Given the description of an element on the screen output the (x, y) to click on. 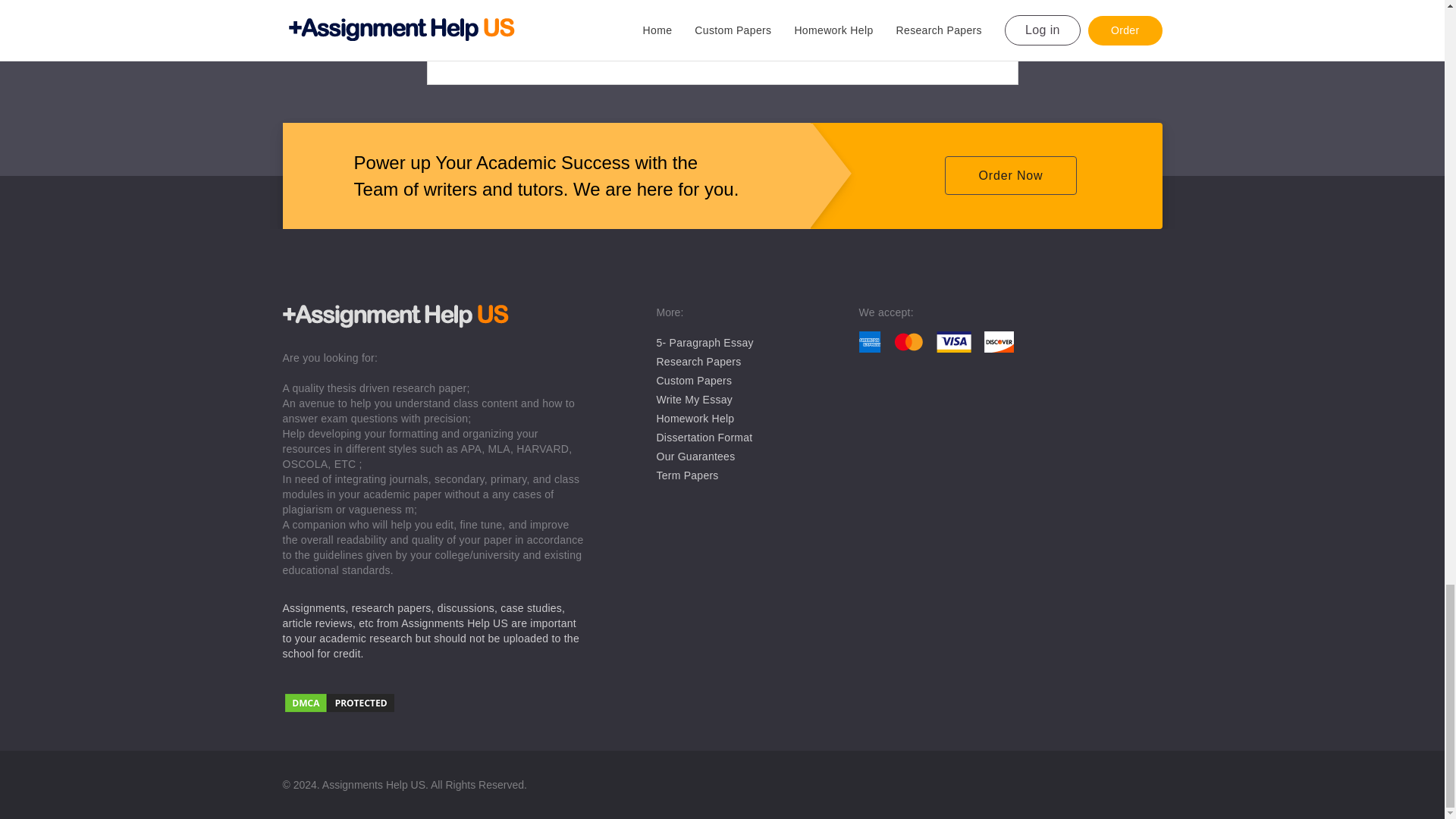
Write My Essay (694, 399)
Term Papers (687, 475)
Order Now (1009, 175)
Our Guarantees (695, 456)
Dissertation Format (704, 437)
Research Papers (698, 361)
Homework Help (695, 418)
DMCA.com Protection Status (433, 703)
Custom Papers (694, 380)
5- Paragraph Essay (705, 342)
